Given the description of an element on the screen output the (x, y) to click on. 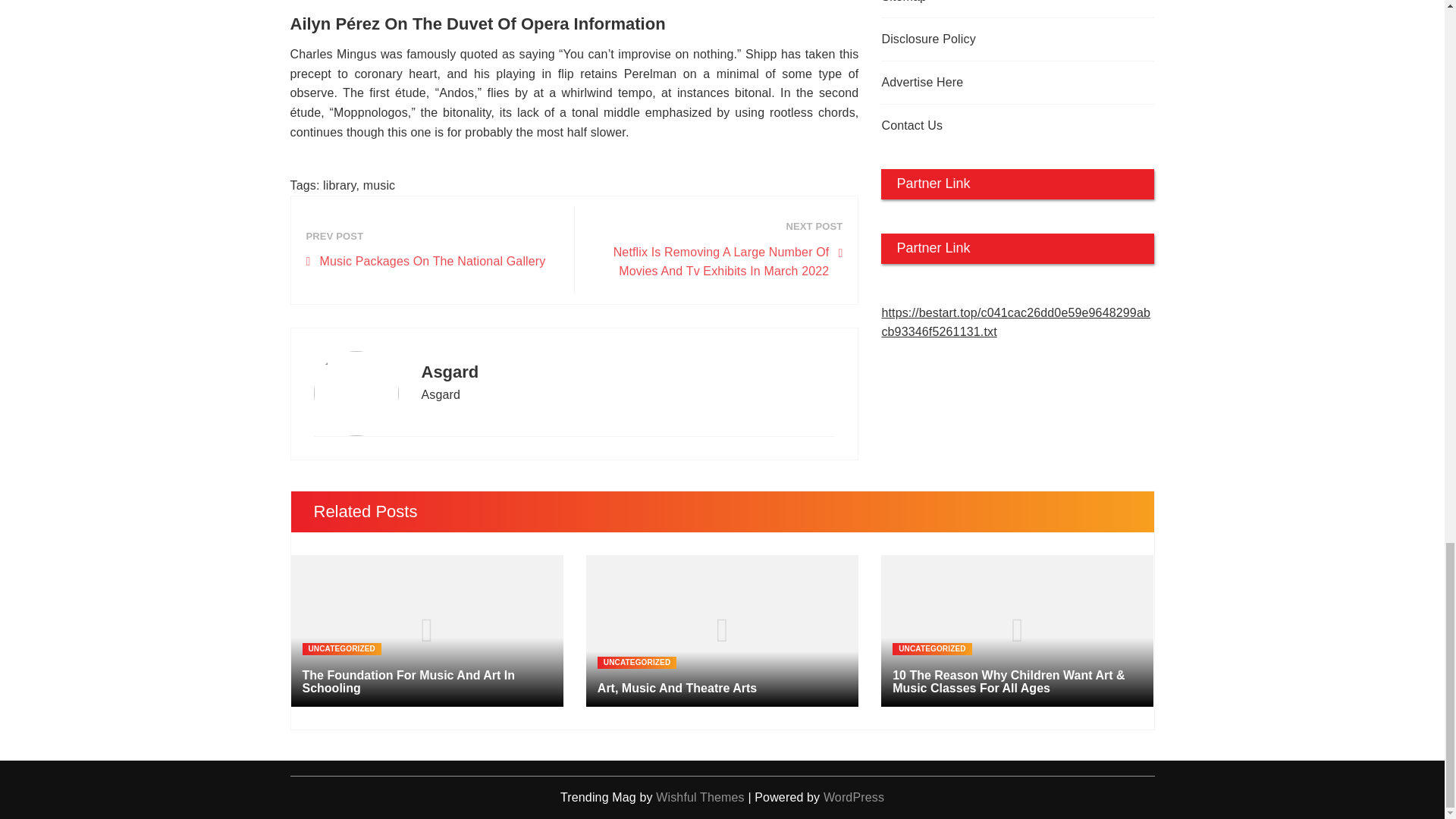
library (339, 185)
music (379, 185)
Music Packages On The National Gallery (425, 261)
